Given the description of an element on the screen output the (x, y) to click on. 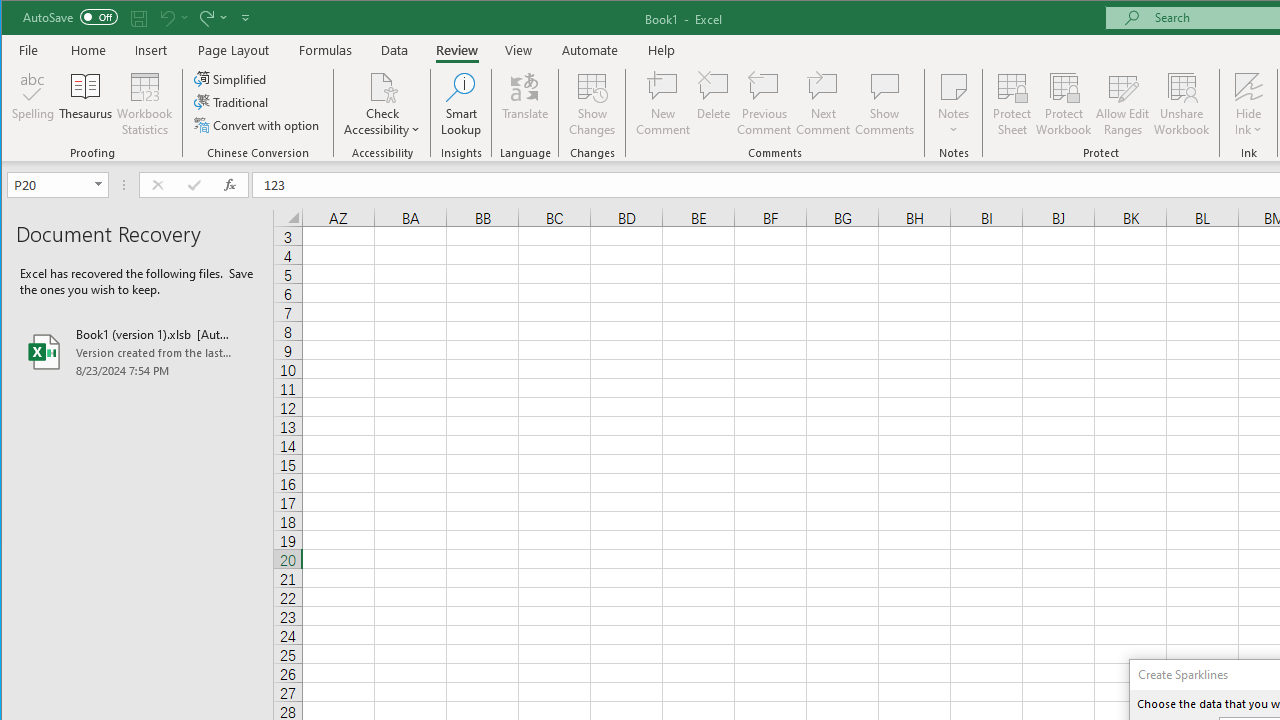
Check Accessibility (381, 104)
